Given the description of an element on the screen output the (x, y) to click on. 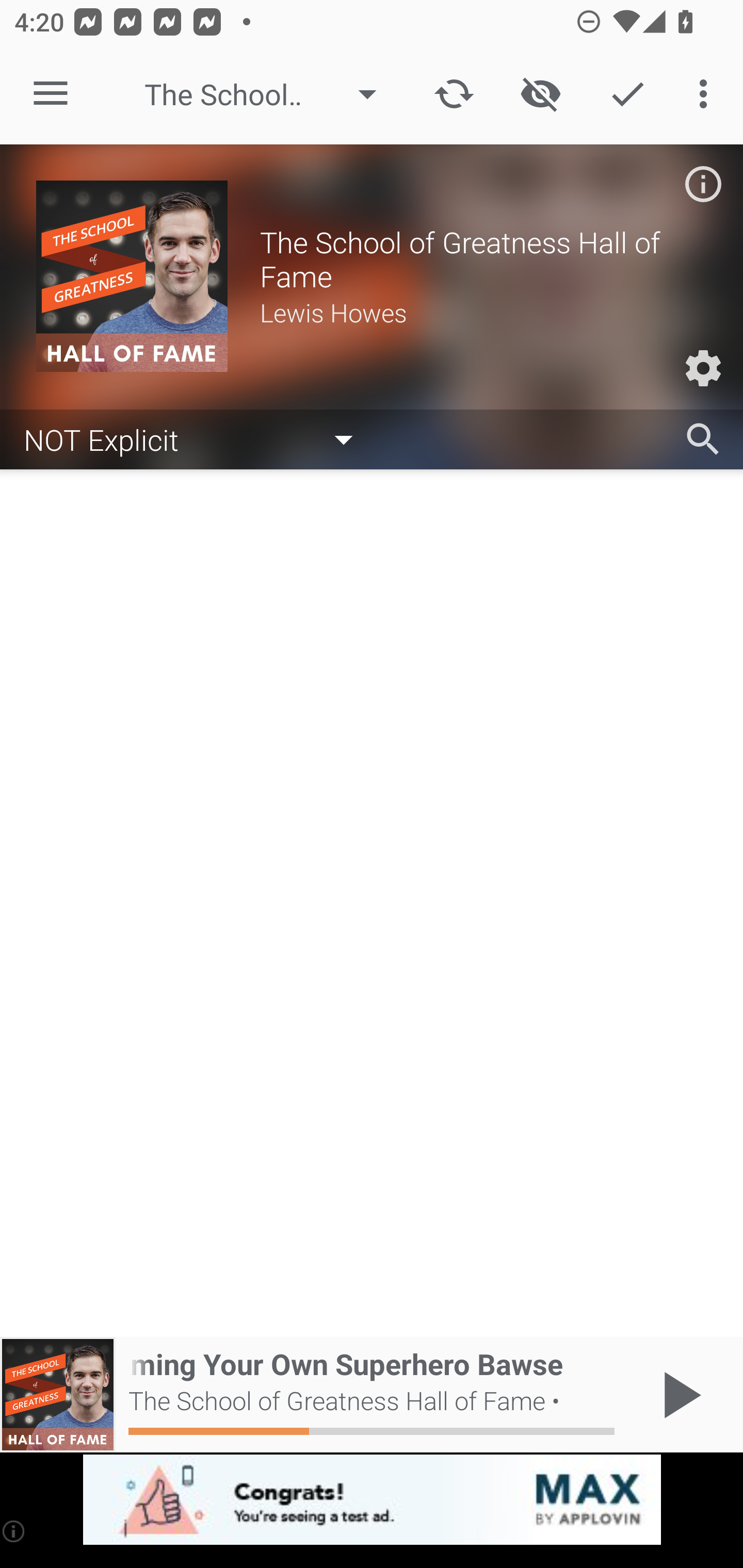
Open navigation sidebar (50, 93)
Update (453, 93)
Show / Hide played content (540, 93)
Action Mode (626, 93)
More options (706, 93)
The School of Greatness Hall of Fame (270, 94)
Podcast description (703, 184)
Lewis Howes (483, 311)
Custom Settings (703, 368)
Search (703, 439)
NOT Explicit (197, 438)
Play / Pause (677, 1394)
app-monetization (371, 1500)
(i) (14, 1531)
